Given the description of an element on the screen output the (x, y) to click on. 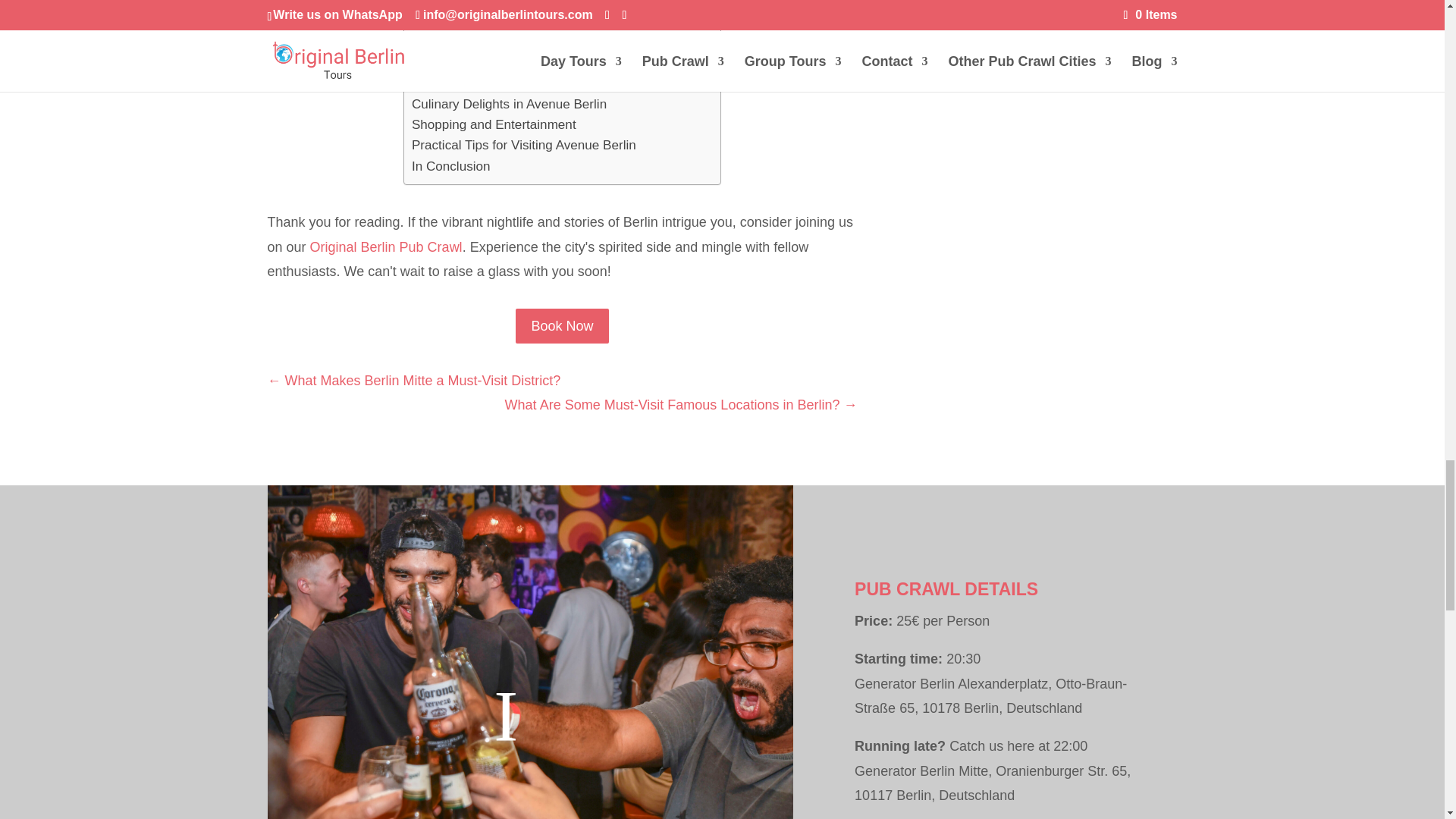
The History and Culture of Mitte (503, 5)
Shopping and Entertainment (494, 124)
Practical Tips for Visiting Avenue Berlin (524, 145)
In Conclusion (451, 166)
Brandenburg Gate (465, 41)
Alexanderplatz (454, 82)
Culinary Delights in Avenue Berlin (509, 104)
Museum Island (455, 62)
